Given the description of an element on the screen output the (x, y) to click on. 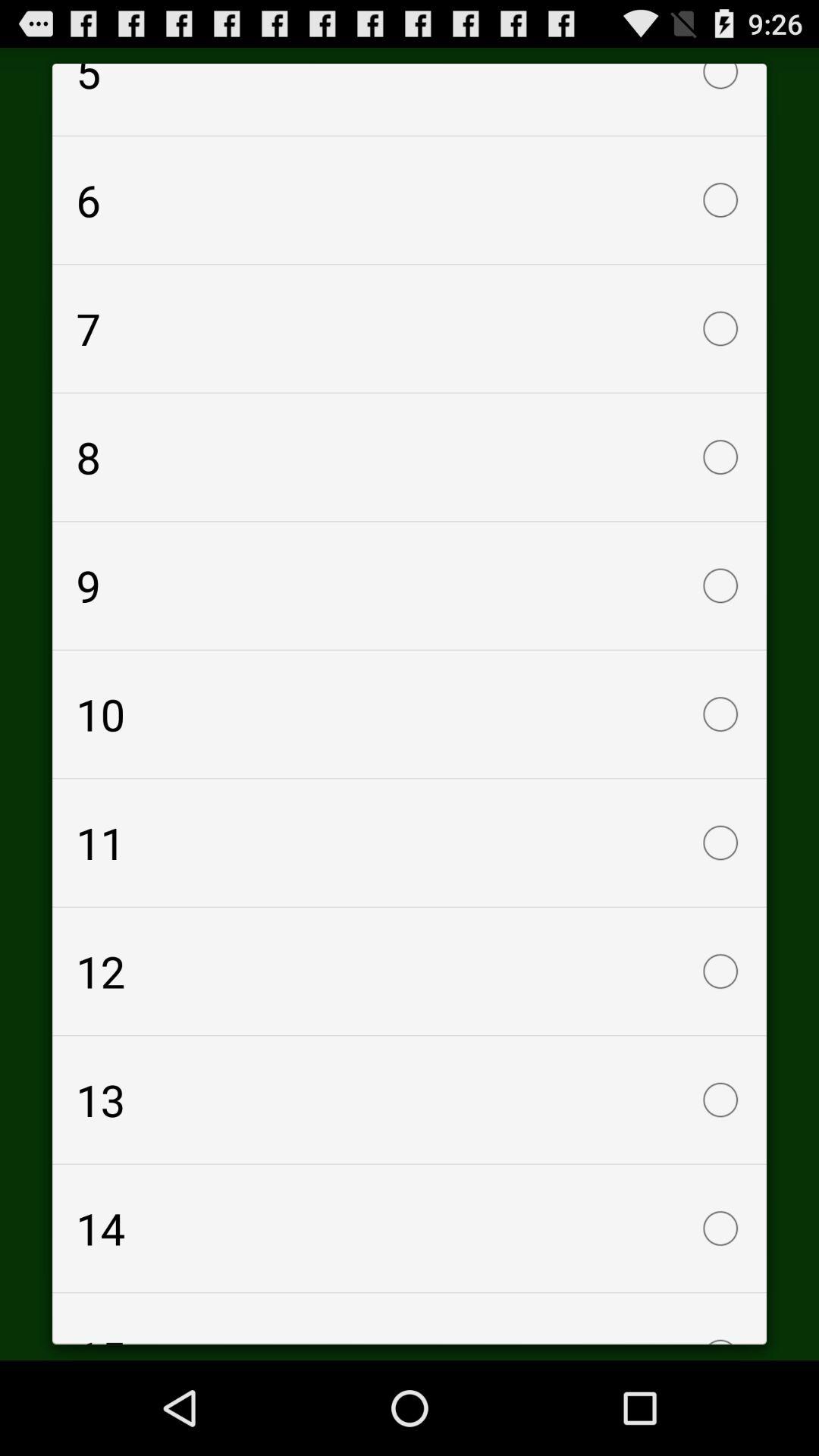
press the icon below the 5 item (409, 199)
